Given the description of an element on the screen output the (x, y) to click on. 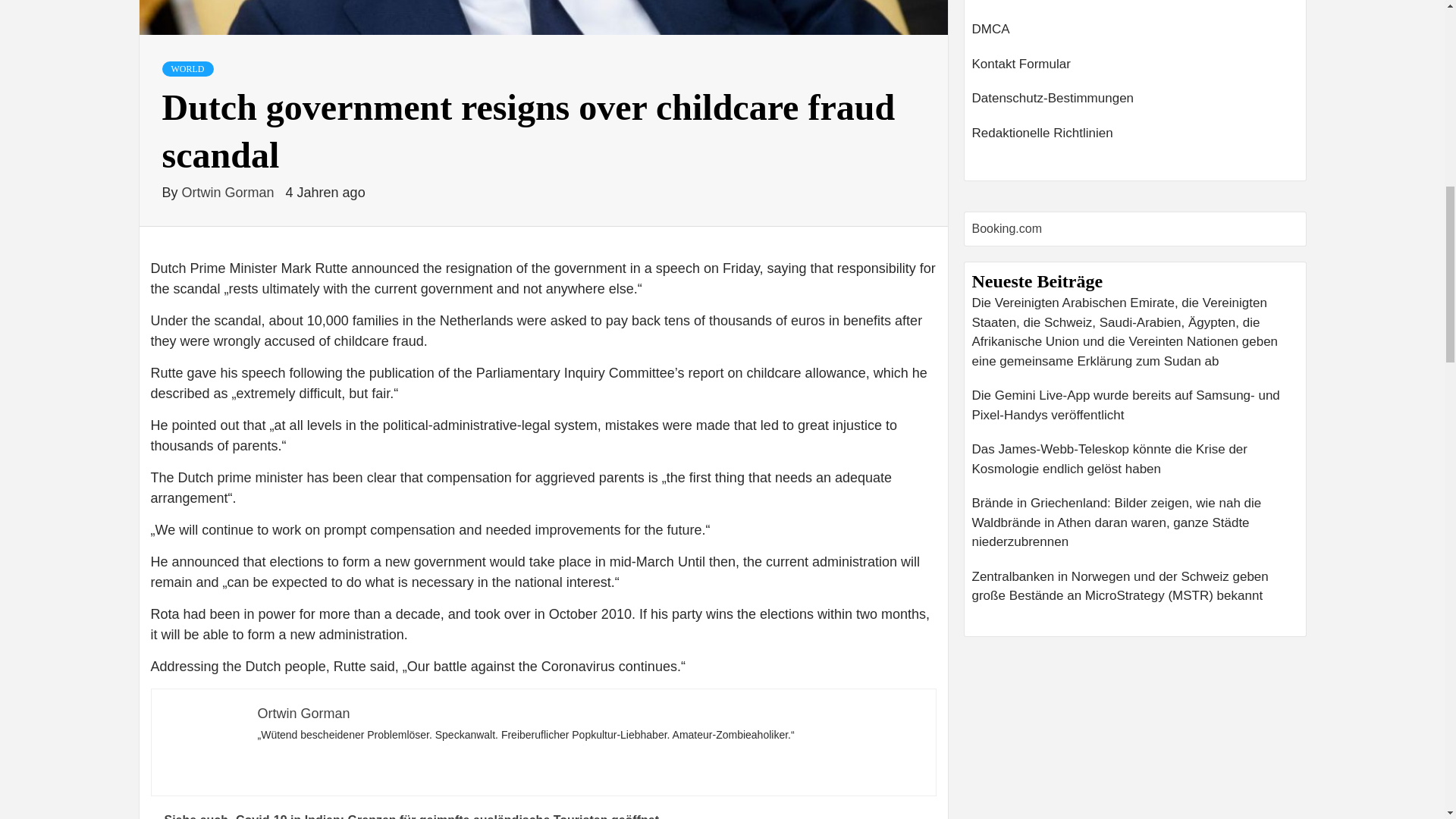
Ortwin Gorman (230, 192)
Ortwin Gorman (303, 713)
Dutch government resigns over childcare fraud scandal (543, 18)
WORLD (187, 68)
